Given the description of an element on the screen output the (x, y) to click on. 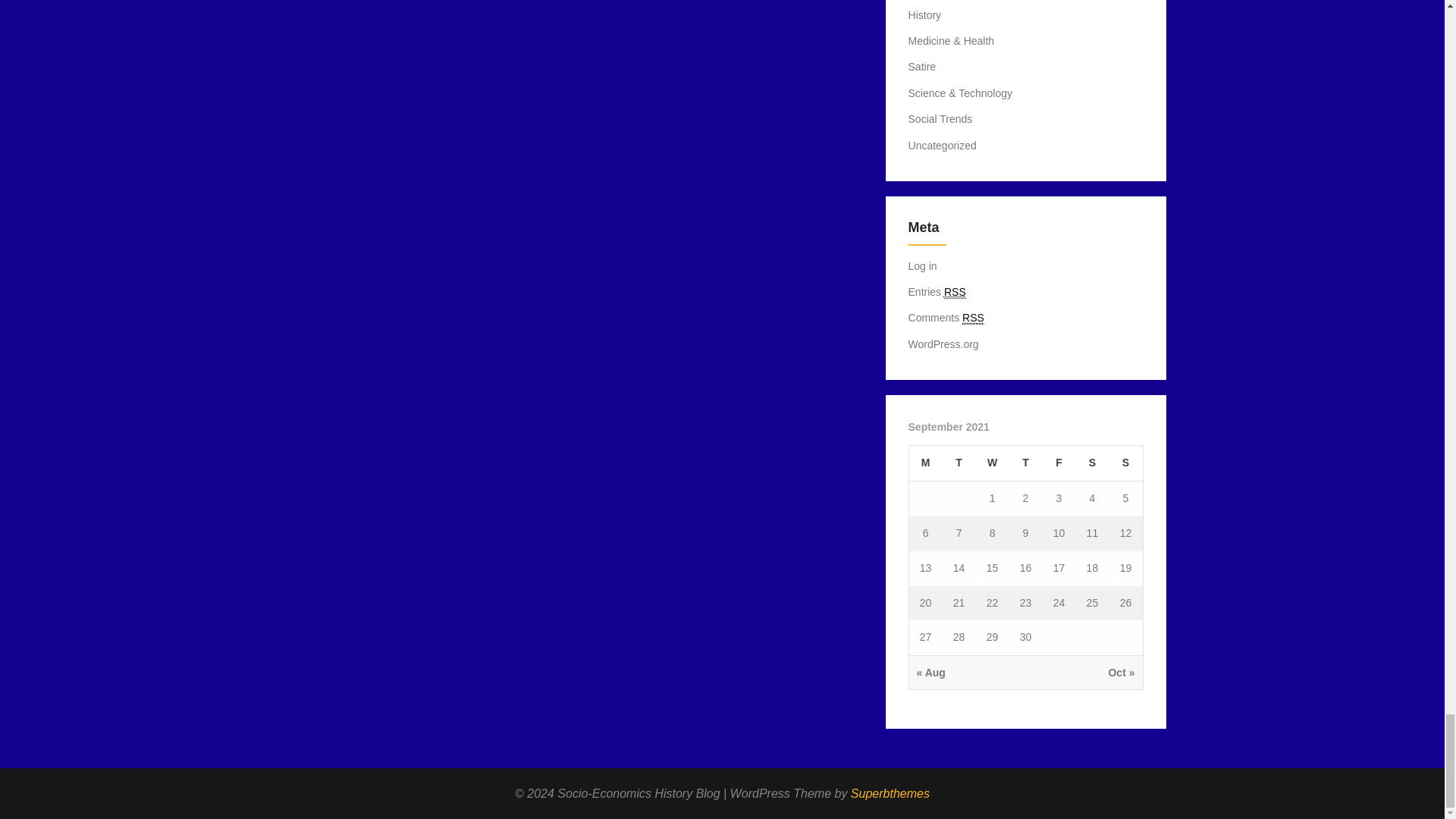
Thursday (1025, 463)
Saturday (1091, 463)
Monday (925, 463)
Sunday (1125, 463)
Friday (1058, 463)
Really Simple Syndication (973, 318)
Really Simple Syndication (954, 291)
Wednesday (992, 463)
Tuesday (958, 463)
